Given the description of an element on the screen output the (x, y) to click on. 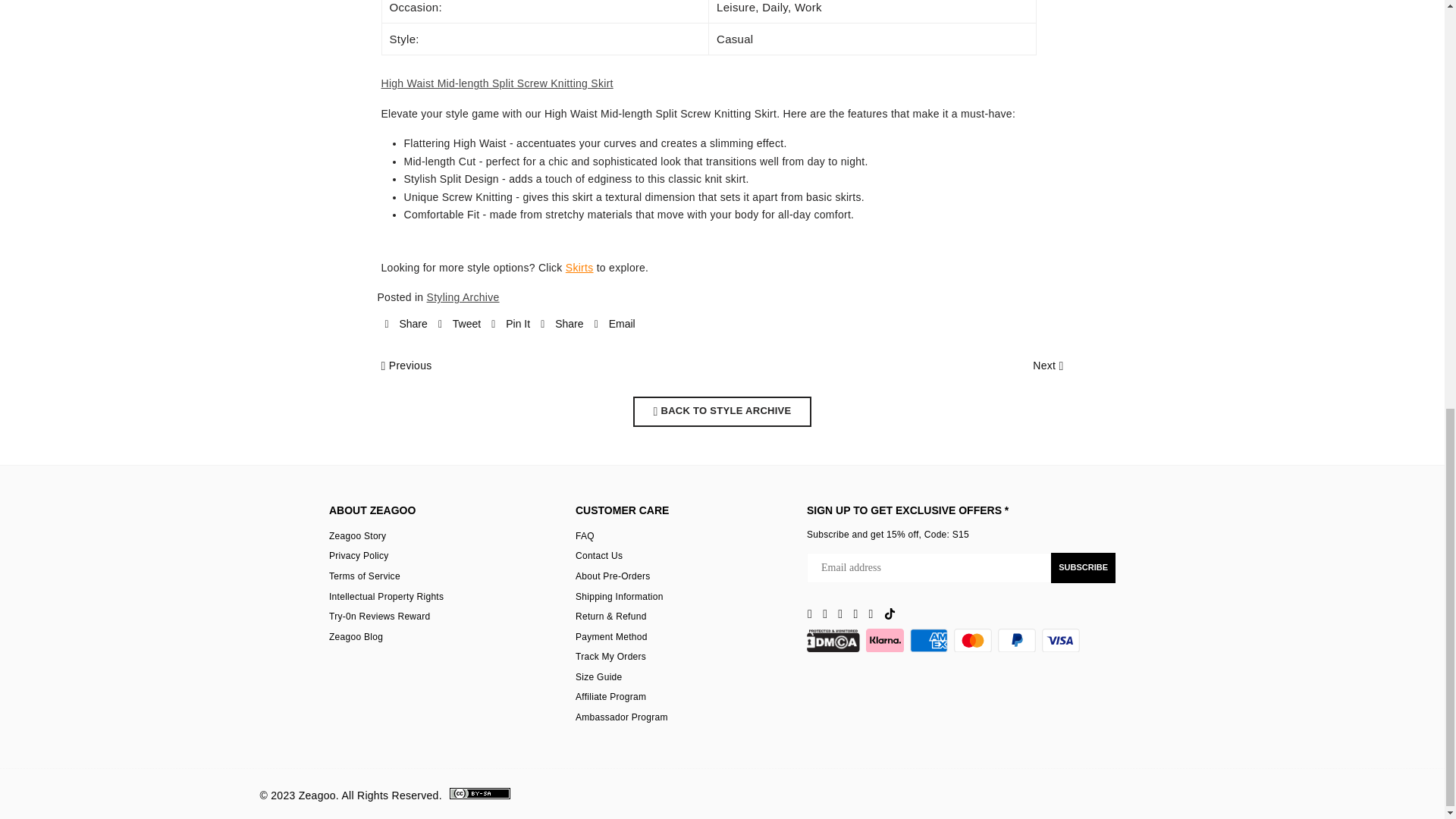
Klarna (885, 640)
High Waist Mid-length Split Screw Knitting Skirt (496, 83)
Share on Facebook (406, 324)
Share on Linked In (561, 324)
Tweet on Twitter (459, 324)
Visa (1061, 640)
Mastercard (972, 640)
PayPal (1016, 640)
American Express (928, 640)
Skirts (580, 267)
Pin on Pinterest (510, 324)
